Given the description of an element on the screen output the (x, y) to click on. 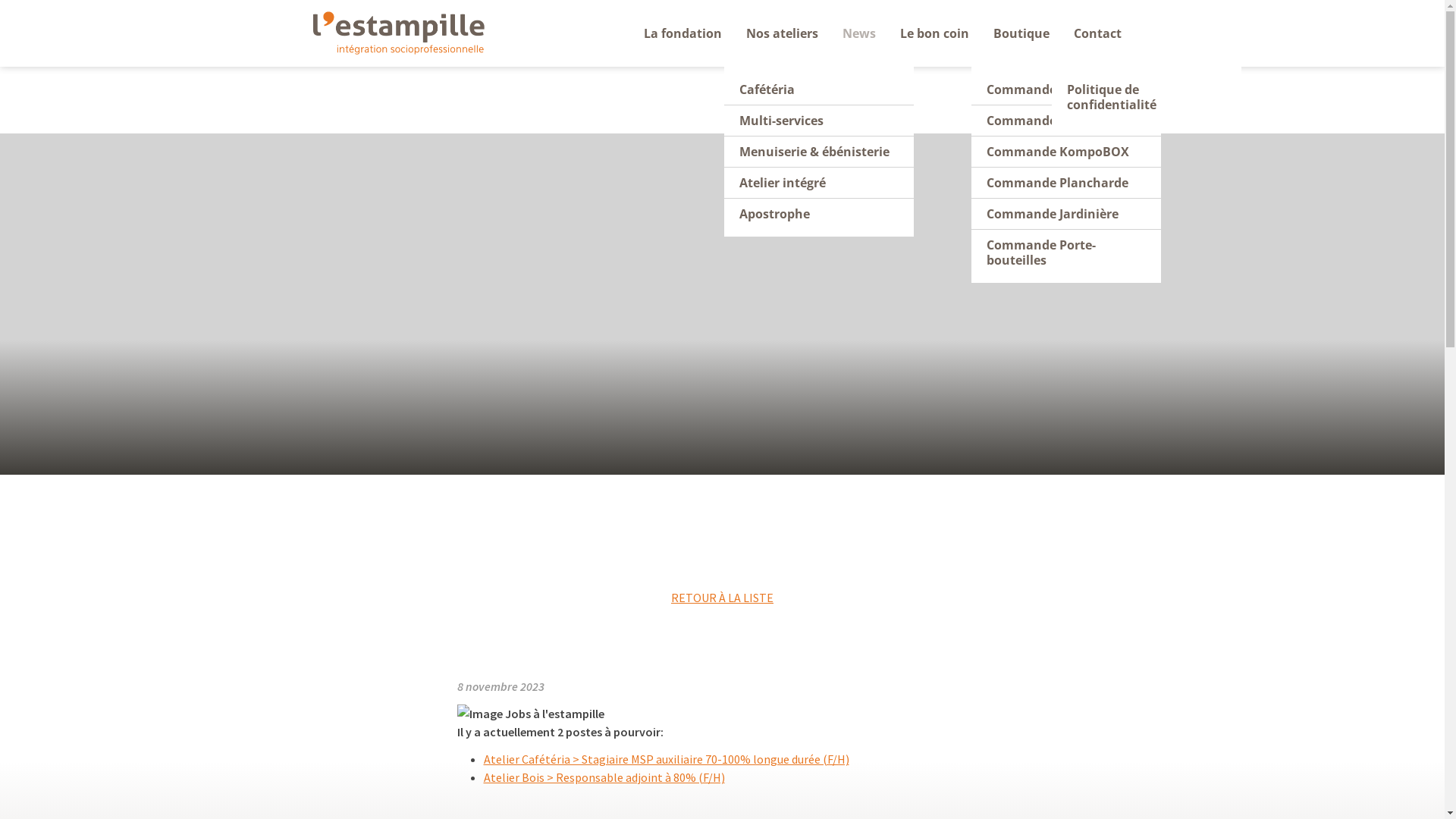
Contact Element type: text (1097, 33)
Commande Porte-bouteilles Element type: text (1065, 252)
Multi-services Element type: text (818, 120)
Apostrophe Element type: text (818, 213)
Boutique Element type: text (1021, 33)
Le bon coin Element type: text (933, 33)
Commande KompoBOX Element type: text (1065, 151)
Nos ateliers Element type: text (781, 33)
atelierlestampille.ch Element type: text (397, 33)
Commande Plancharde Element type: text (1065, 182)
News Element type: text (858, 33)
Commande Bois de feu Element type: text (1065, 120)
Commande K-Lumet Element type: text (1065, 89)
La fondation Element type: text (681, 33)
